Given the description of an element on the screen output the (x, y) to click on. 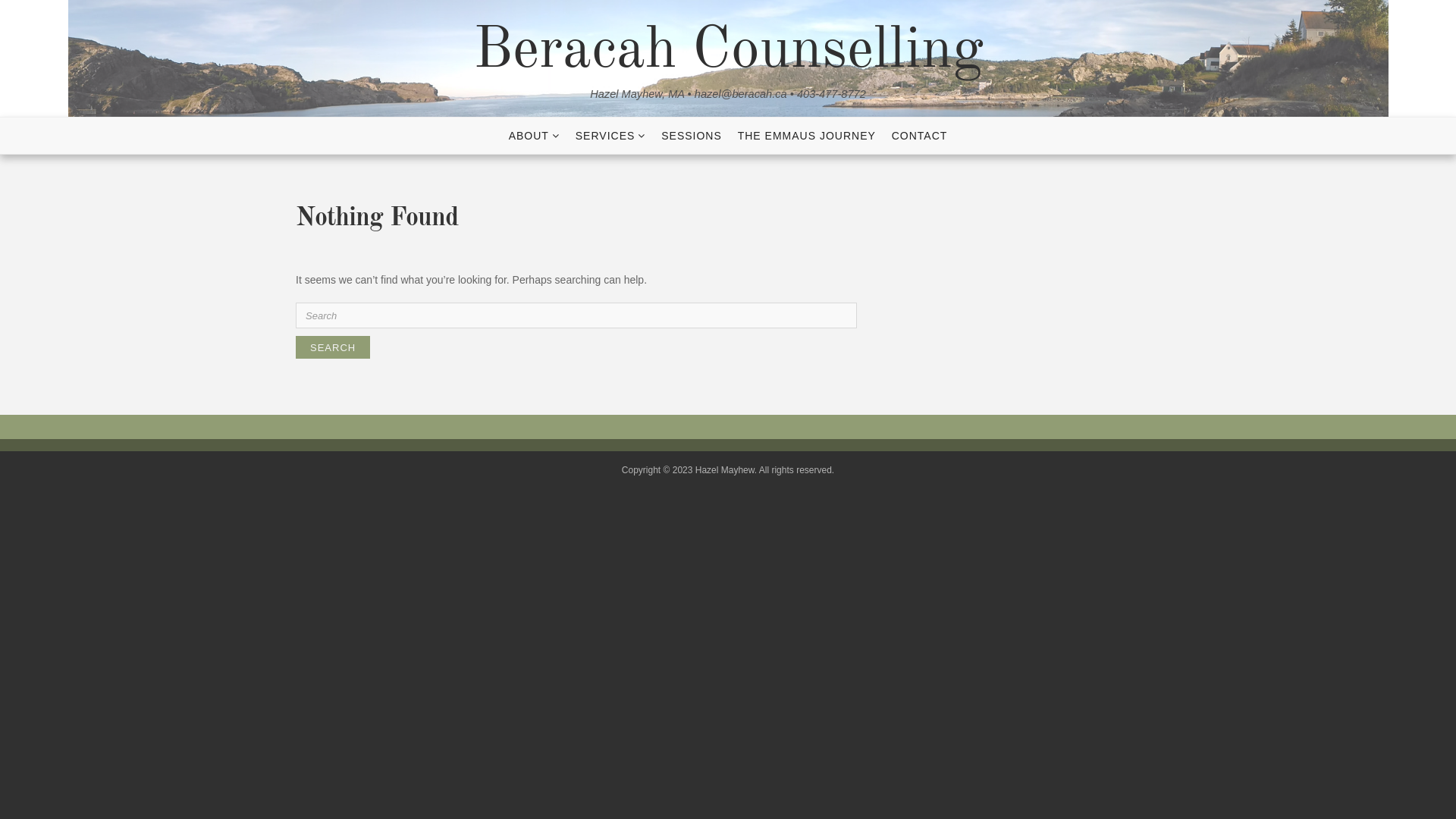
THE EMMAUS JOURNEY Element type: text (806, 135)
SERVICES Element type: text (610, 135)
ABOUT Element type: text (533, 135)
Search Element type: text (332, 347)
SESSIONS Element type: text (691, 135)
Beracah Counselling Element type: text (728, 51)
CONTACT Element type: text (919, 135)
